Given the description of an element on the screen output the (x, y) to click on. 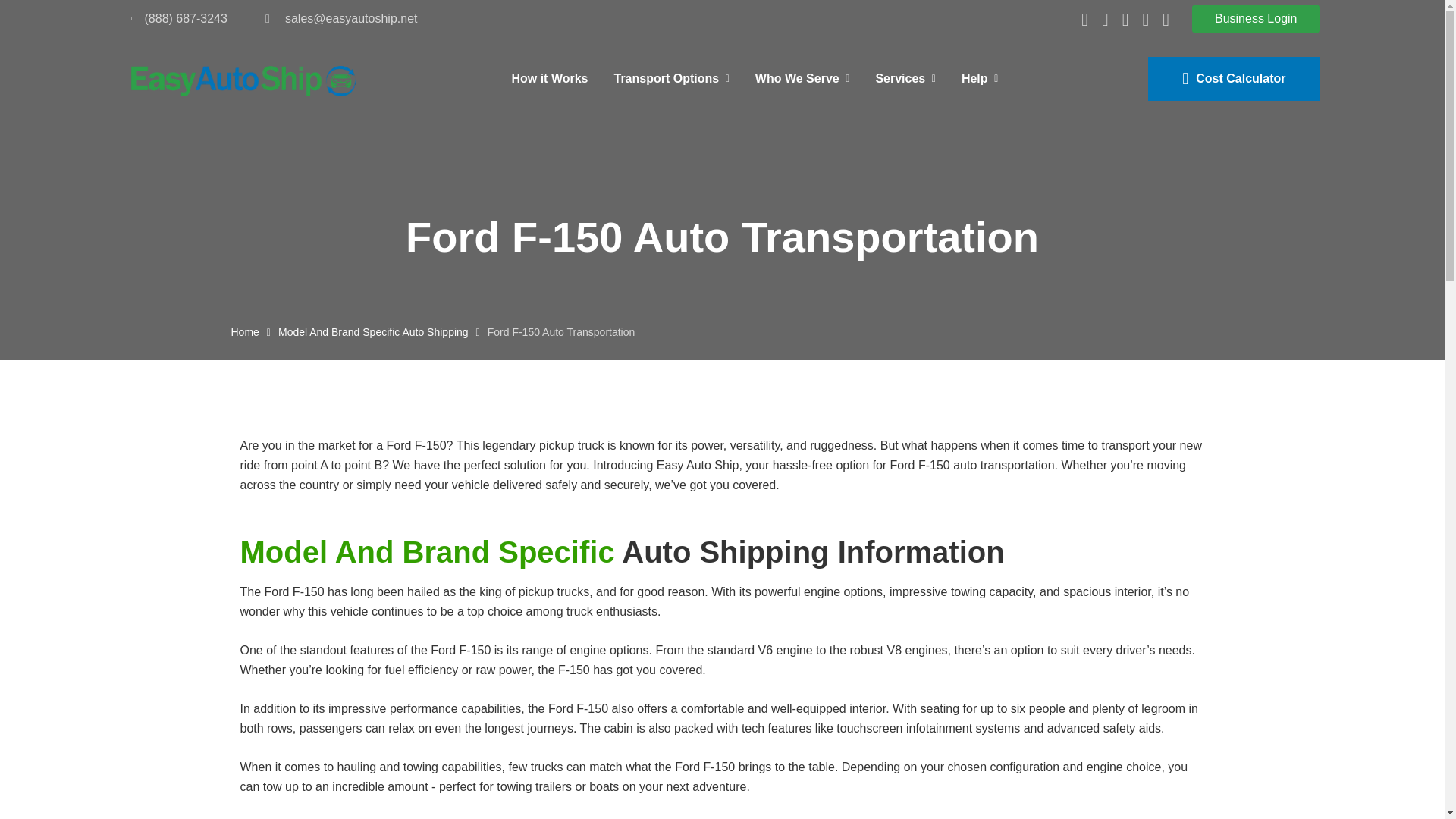
Who We Serve (802, 78)
Services (905, 78)
How it Works (548, 78)
Business Login (1256, 18)
Transport Options (670, 78)
